Given the description of an element on the screen output the (x, y) to click on. 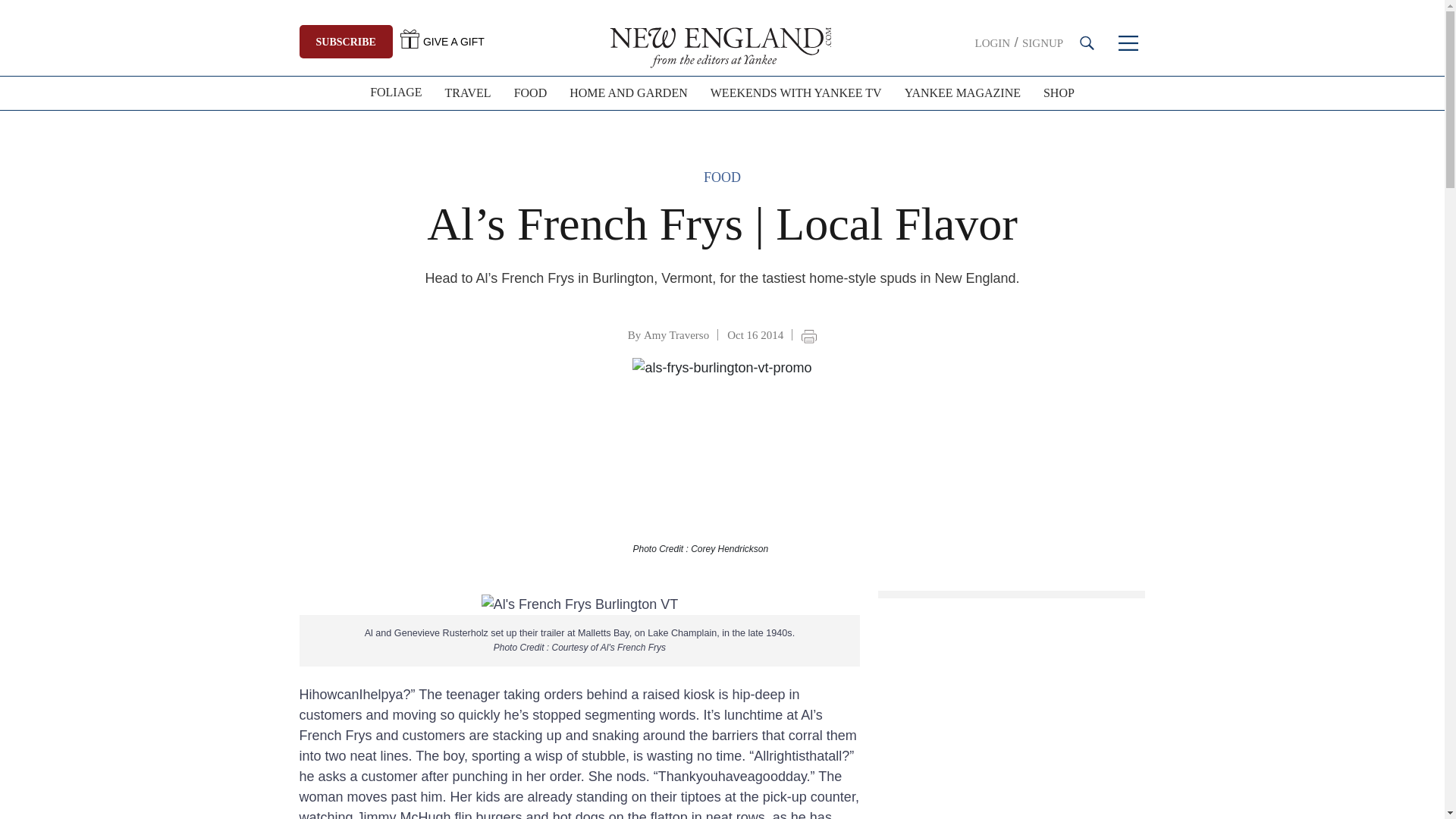
GIVE A GIFT (442, 41)
SIGNUP (1042, 42)
FOLIAGE (395, 92)
LOGIN (992, 42)
HOME AND GARDEN (627, 92)
SUBSCRIBE (344, 41)
TRAVEL (467, 92)
SUBSCRIBE (345, 41)
ne-fromtheeditors (722, 45)
FOOD (530, 92)
WEEKENDS WITH YANKEE TV (795, 92)
YANKEE MAGAZINE (962, 92)
